Given the description of an element on the screen output the (x, y) to click on. 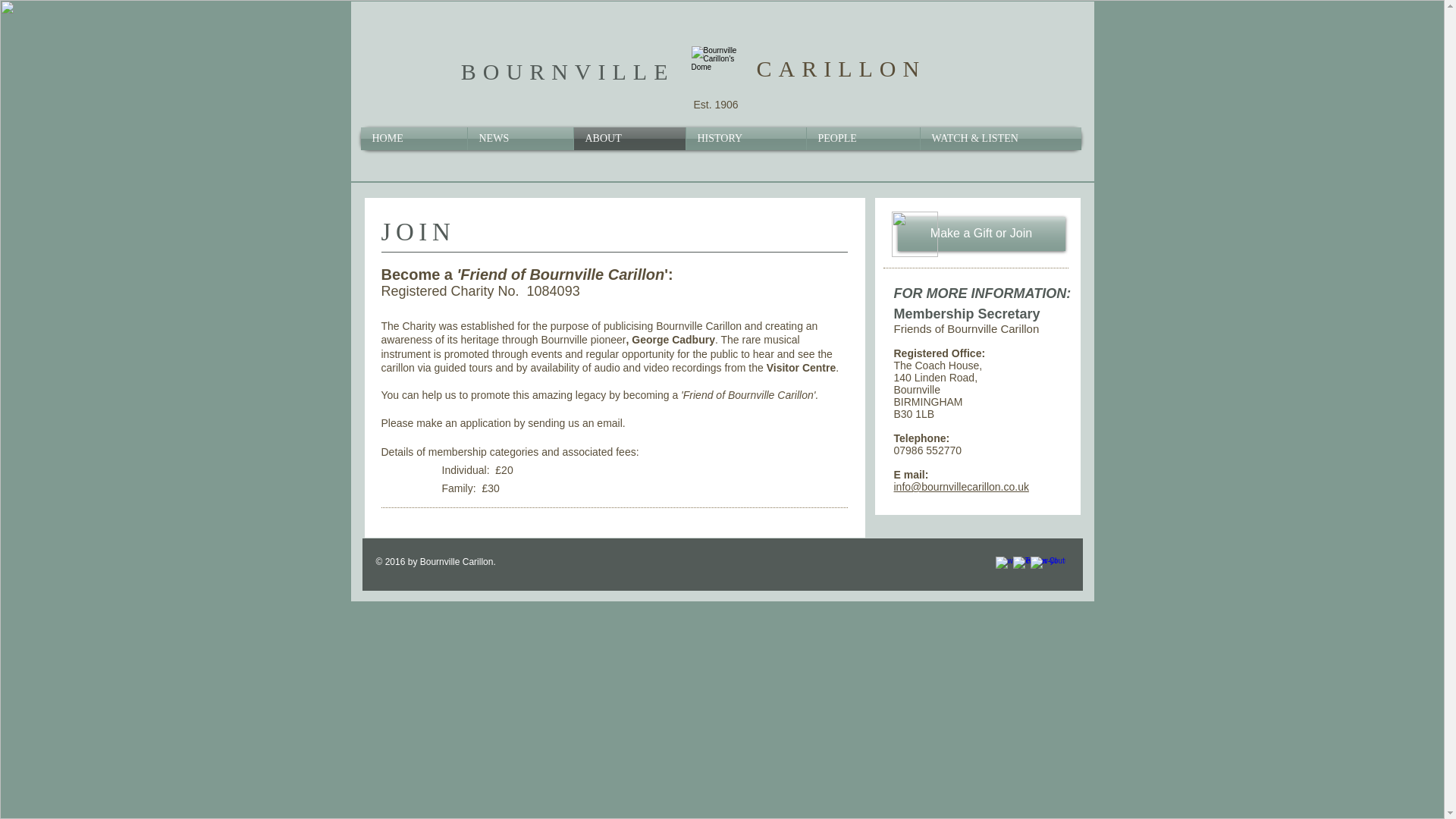
Carillon Dome.jpg (716, 71)
ABOUT (628, 138)
HISTORY (745, 138)
PEOPLE (863, 138)
HOME (414, 138)
BOURNVILLE (568, 71)
Make a Gift or Join (981, 233)
CARILLON (841, 68)
NEWS (519, 138)
